Given the description of an element on the screen output the (x, y) to click on. 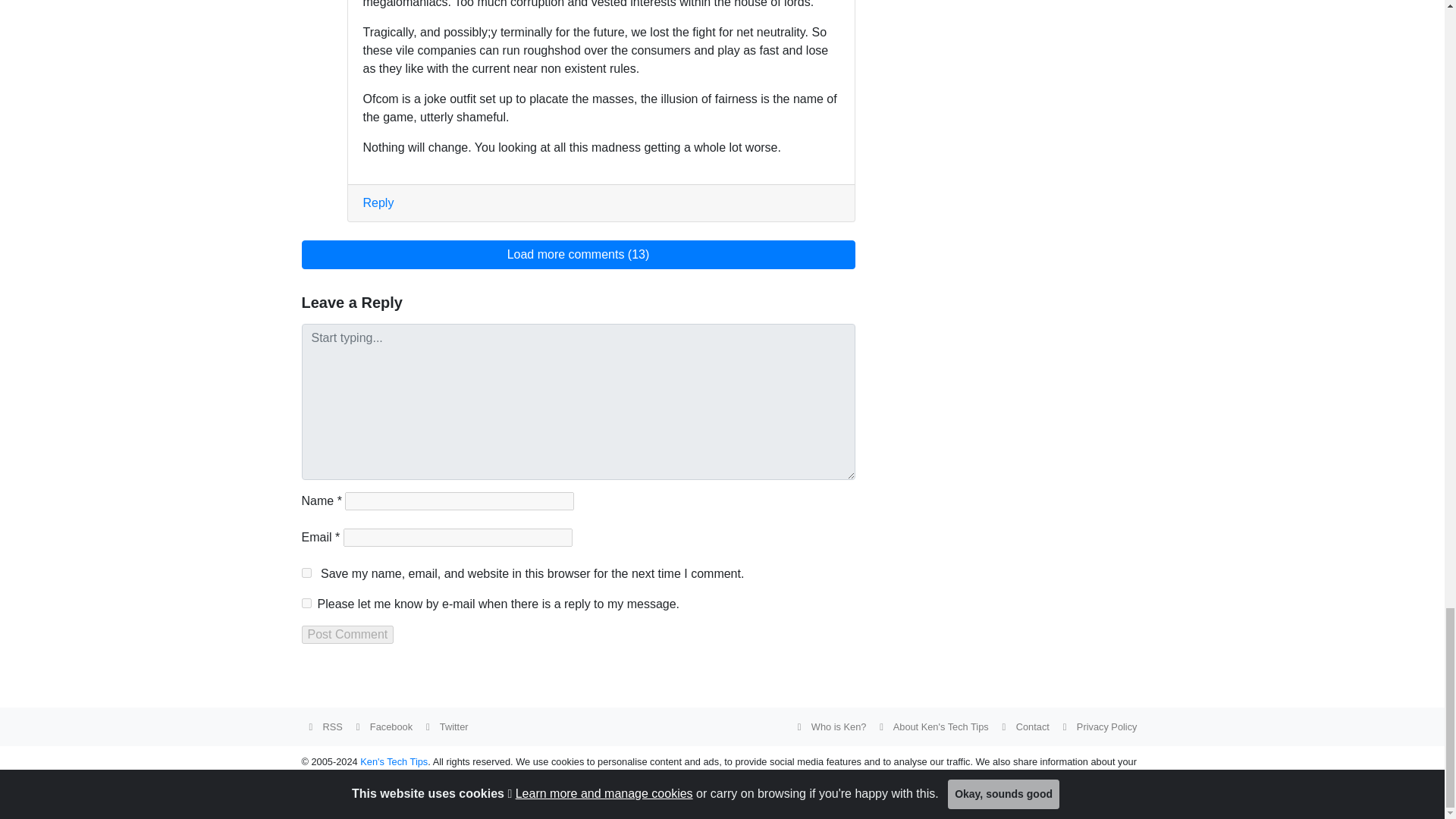
Post Comment (347, 634)
yes (306, 573)
replies (306, 603)
